Given the description of an element on the screen output the (x, y) to click on. 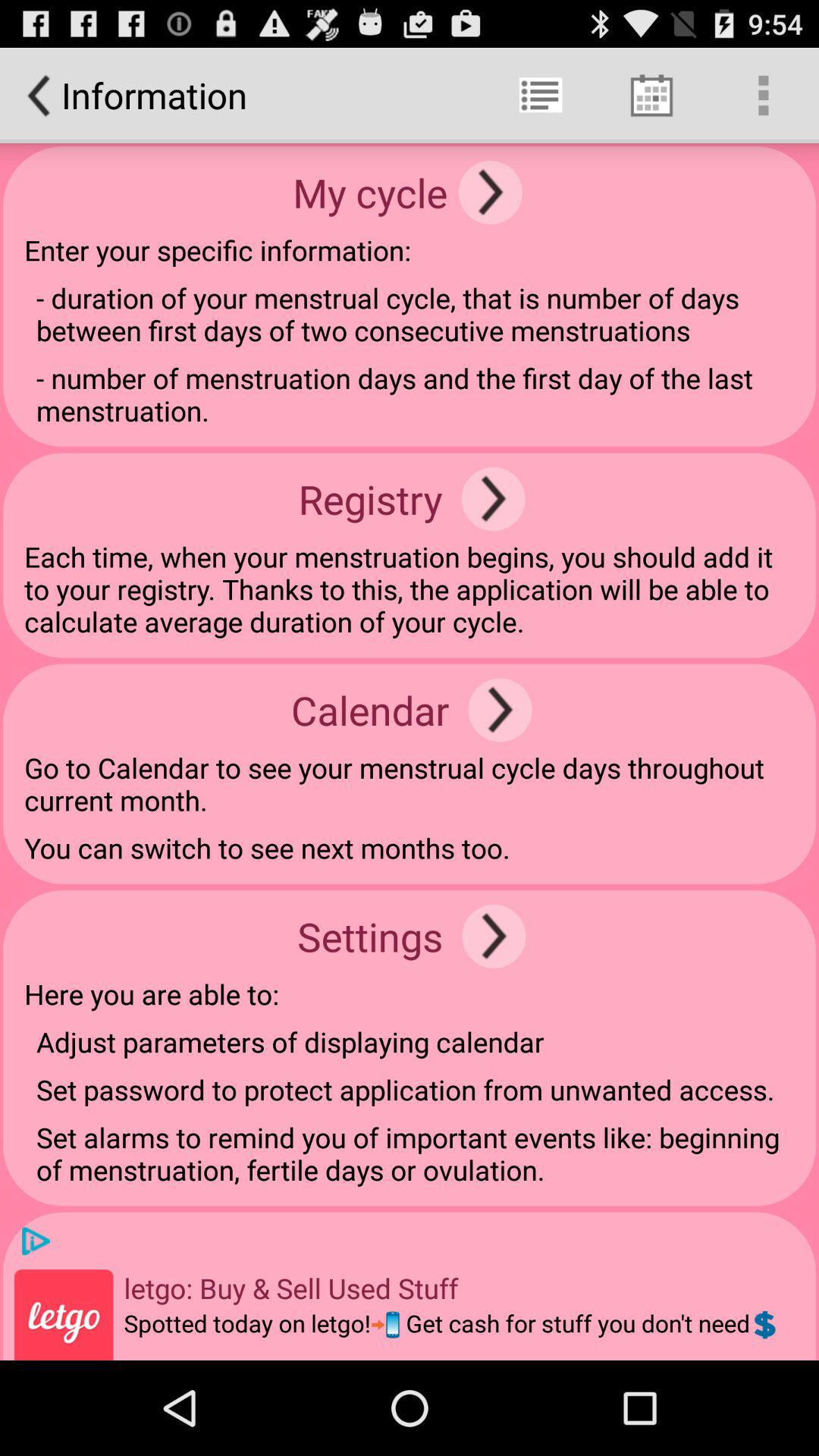
go to calendar (500, 710)
